Given the description of an element on the screen output the (x, y) to click on. 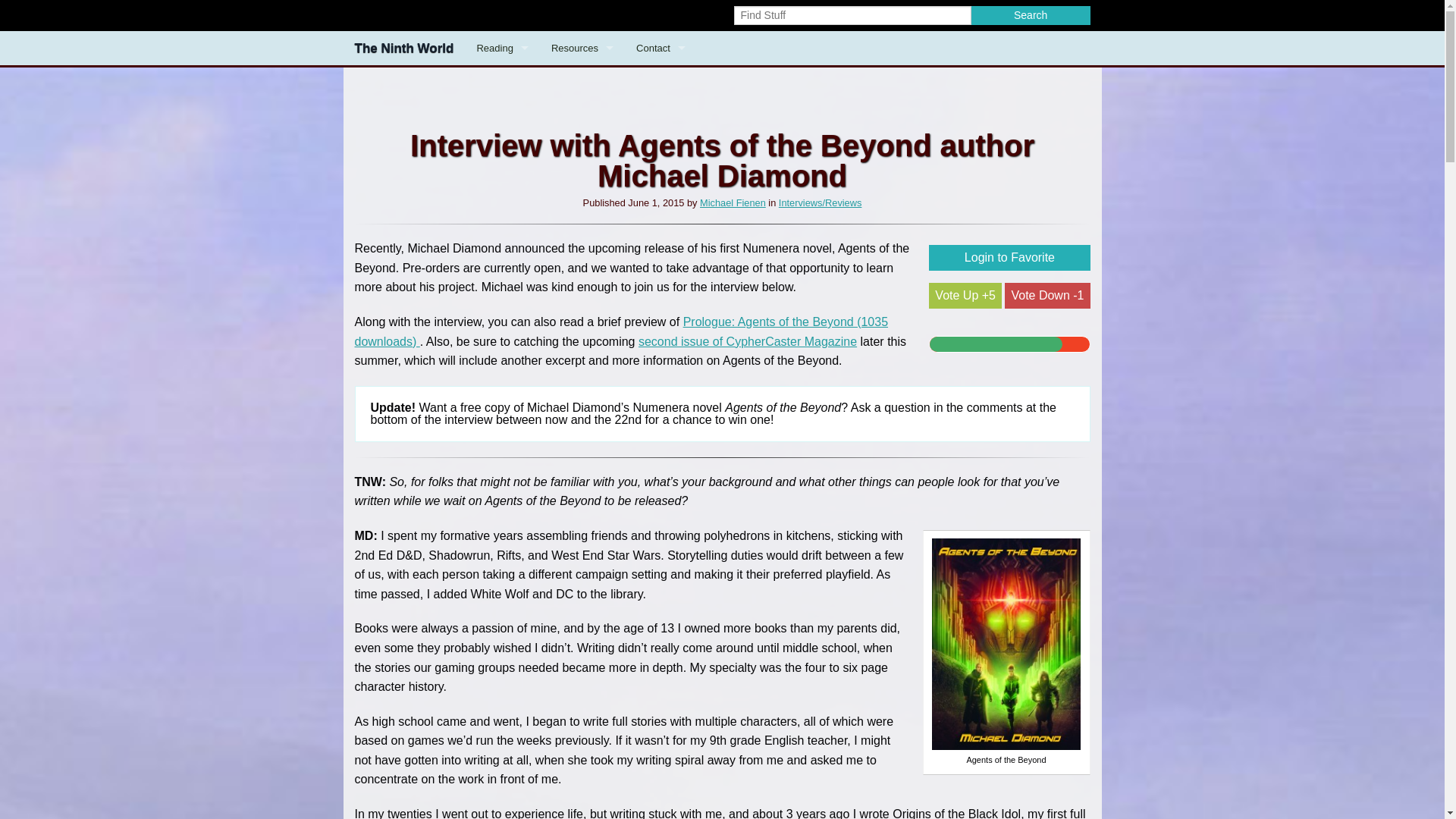
Vote Down -1 (1046, 295)
Login to Favorite (1008, 257)
Login to Add to Favorites (1008, 257)
Resources (621, 331)
Search (582, 48)
Contact (1030, 15)
Reading (660, 48)
Posts by Michael Fienen (501, 48)
Michael Fienen (732, 202)
Search (732, 202)
The Ninth World (1030, 15)
second issue of CypherCaster Magazine (403, 48)
